Given the description of an element on the screen output the (x, y) to click on. 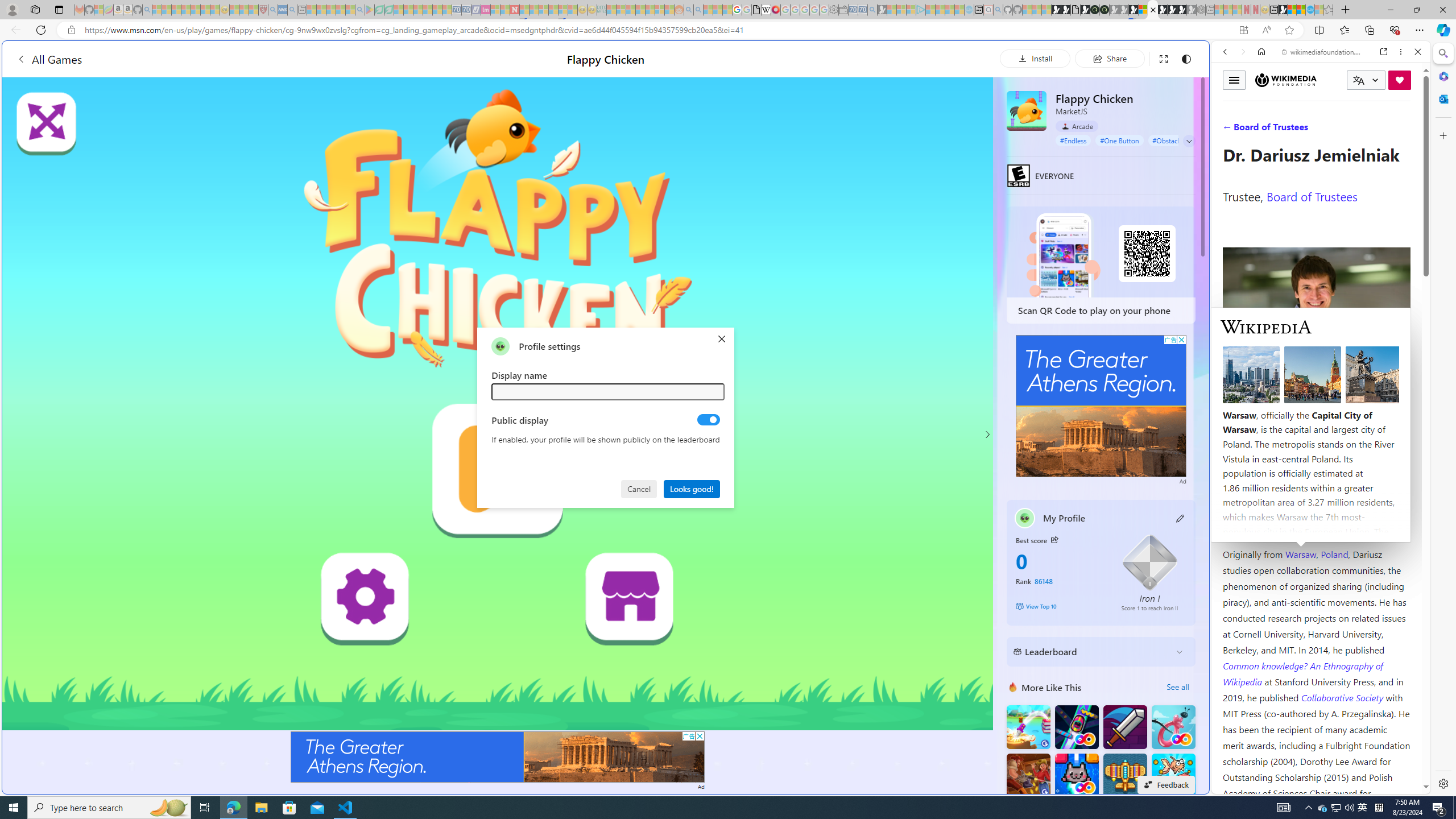
World - MSN (727, 389)
google_privacy_policy_zh-CN.pdf (1118, 683)
Play Zoo Boom in your browser | Games from Microsoft Start (1065, 9)
utah sues federal government - Search - Sleeping (291, 9)
